Given the description of an element on the screen output the (x, y) to click on. 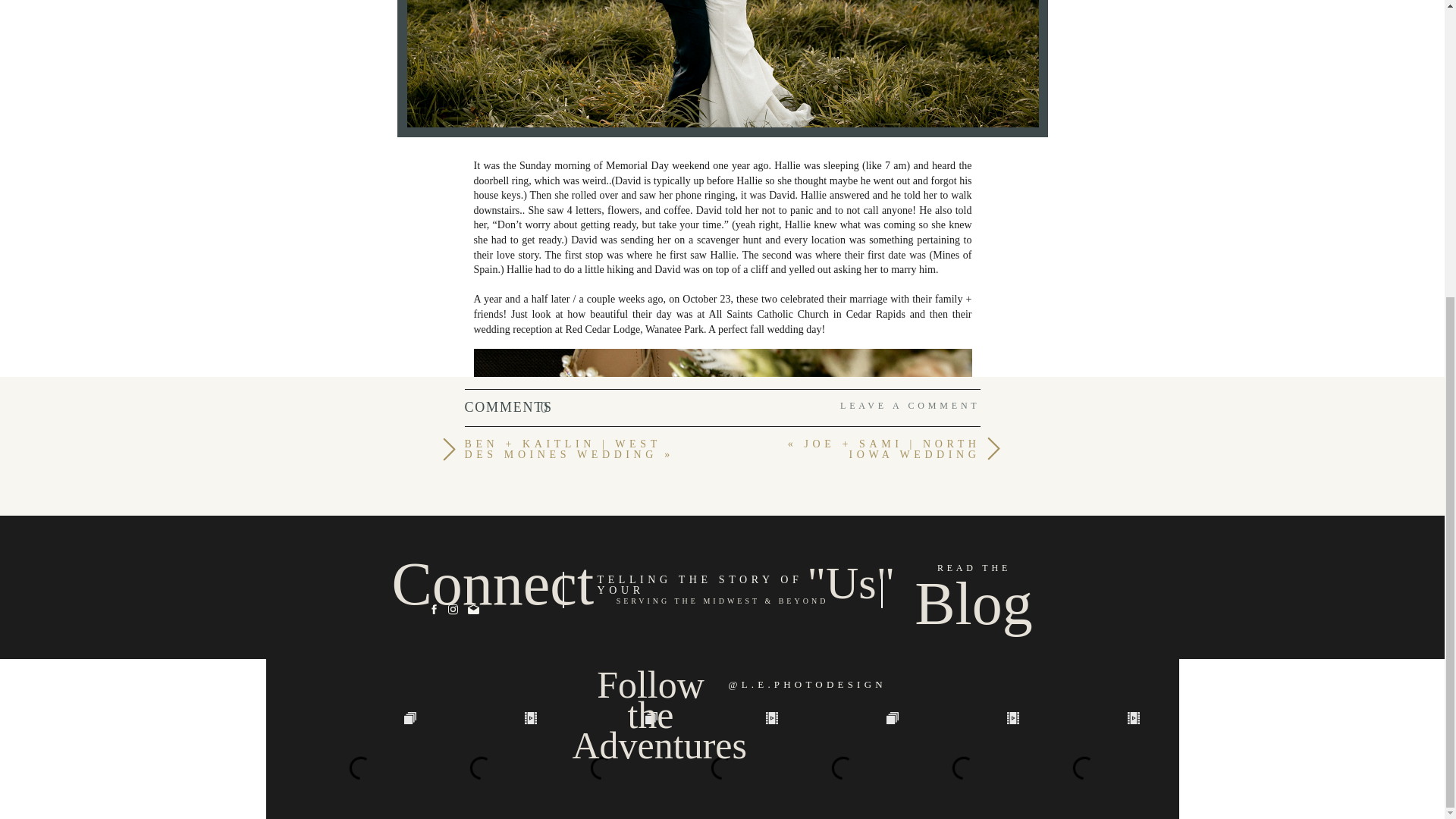
Follow the Adventures (650, 684)
READ THE (974, 571)
LEAVE A COMMENT (894, 409)
Blog (973, 601)
COMMENTS (545, 407)
